Given the description of an element on the screen output the (x, y) to click on. 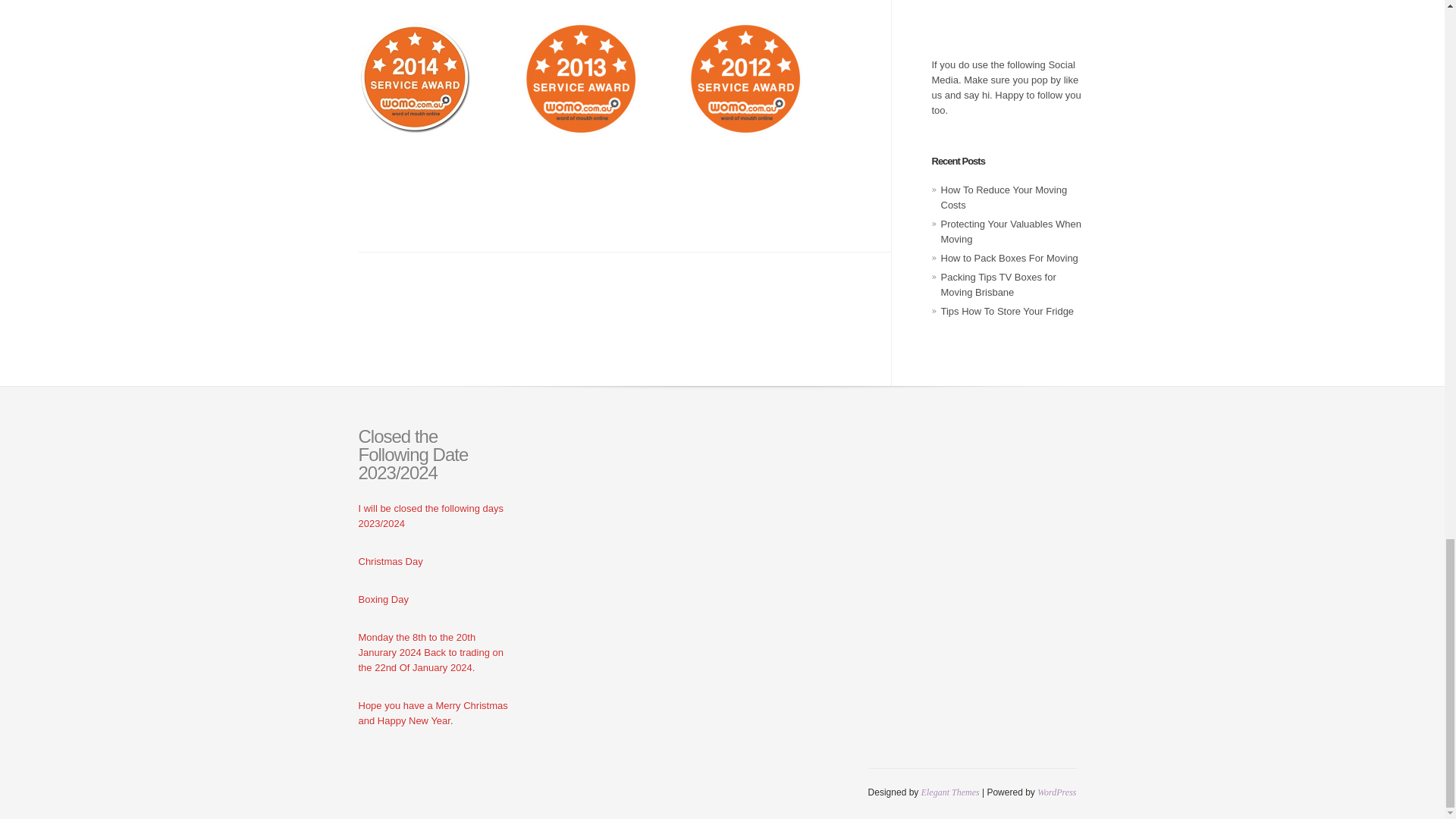
Elegant Themes (950, 792)
How To Reduce Your Moving Costs (1003, 197)
Tips How To Store Your Fridge (1007, 310)
WordPress (1055, 792)
Packing Tips TV Boxes for Moving Brisbane (997, 284)
Protecting Your Valuables When Moving (1010, 231)
How to Pack Boxes For Moving (1008, 257)
